Given the description of an element on the screen output the (x, y) to click on. 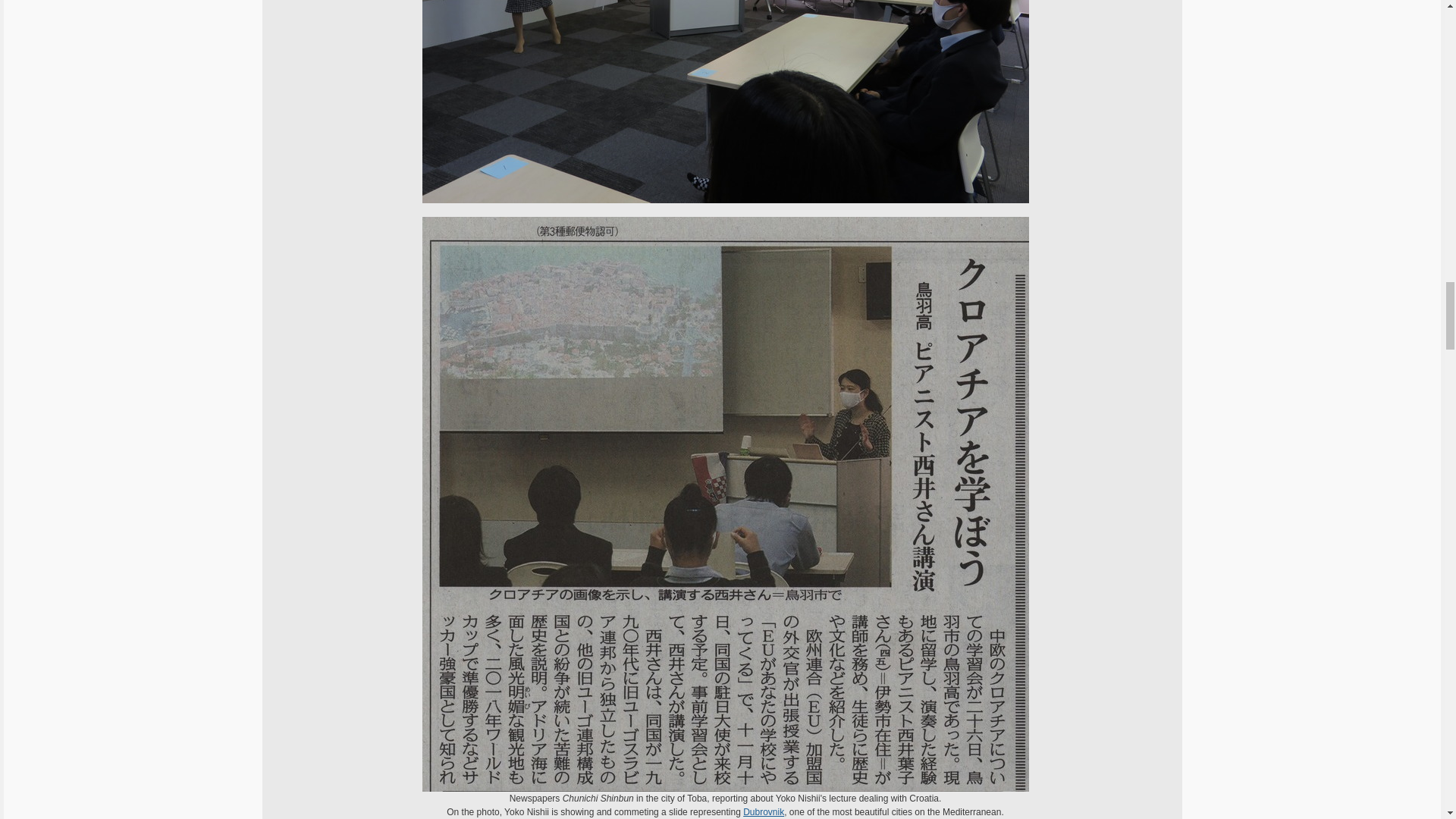
Dubrovnik (763, 811)
